Given the description of an element on the screen output the (x, y) to click on. 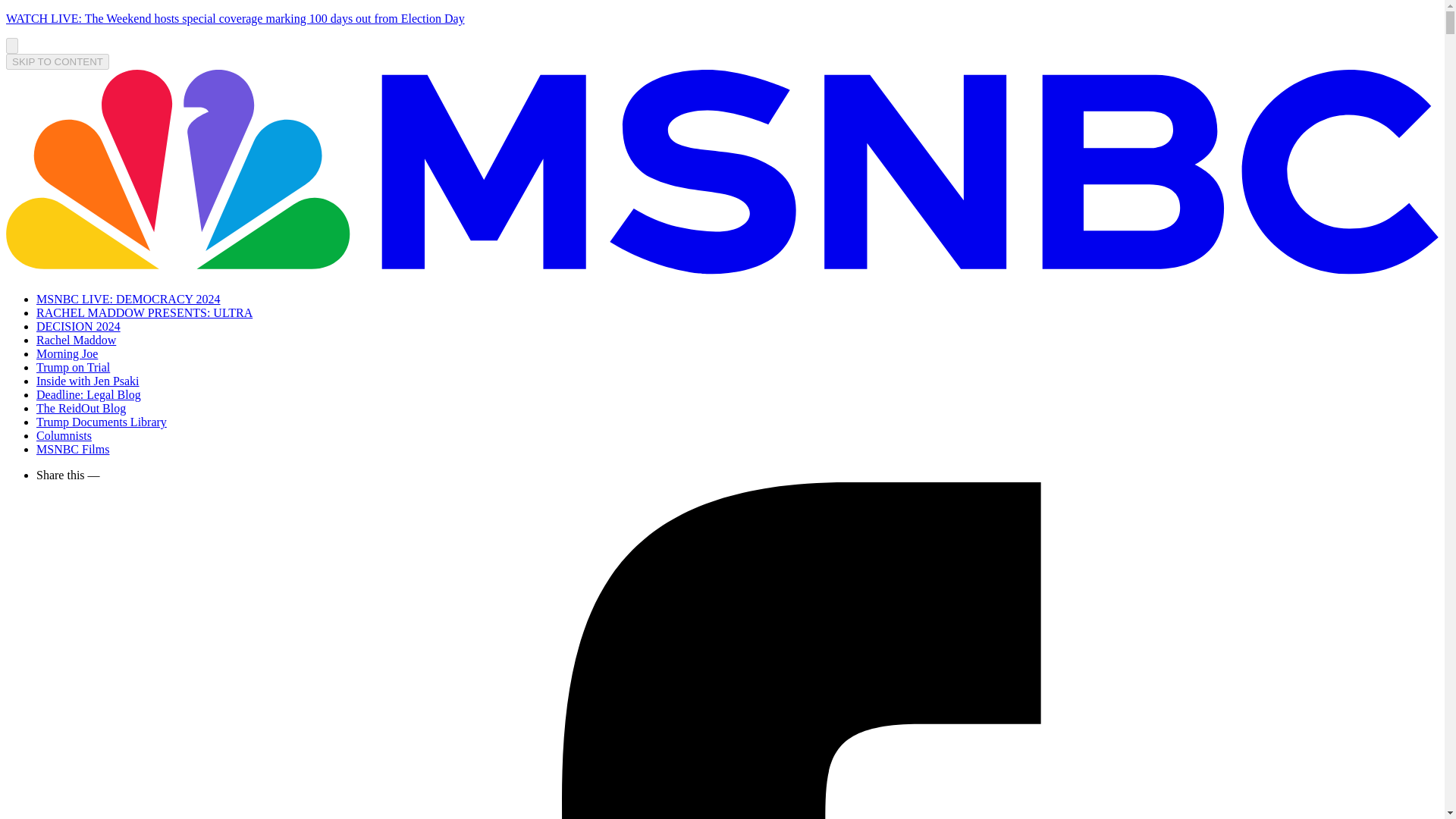
SKIP TO CONTENT (57, 61)
Trump on Trial (73, 367)
Inside with Jen Psaki (87, 380)
Rachel Maddow (76, 339)
The ReidOut Blog (80, 408)
RACHEL MADDOW PRESENTS: ULTRA (143, 312)
Deadline: Legal Blog (88, 394)
Trump Documents Library (101, 421)
MSNBC LIVE: DEMOCRACY 2024 (128, 298)
Morning Joe (66, 353)
DECISION 2024 (78, 326)
MSNBC Films (72, 449)
Columnists (63, 435)
